Given the description of an element on the screen output the (x, y) to click on. 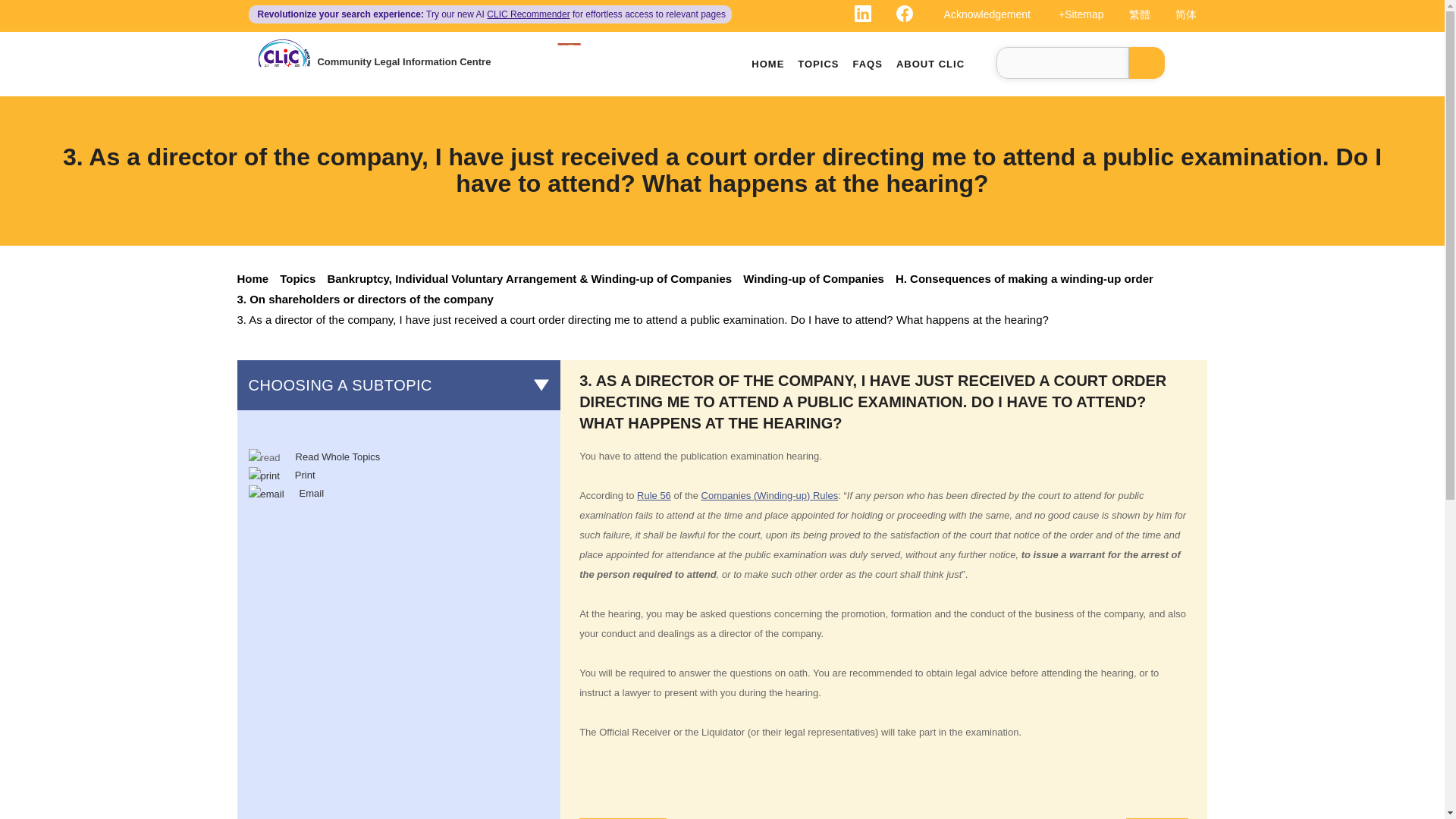
Winding-up of Companies (818, 278)
Search (1146, 62)
Enter the terms you wish to search for. (1062, 62)
Rule 56 (654, 495)
ABOUT CLIC (930, 63)
Go to next page (1157, 818)
Community Legal Information Centre (403, 61)
